Given the description of an element on the screen output the (x, y) to click on. 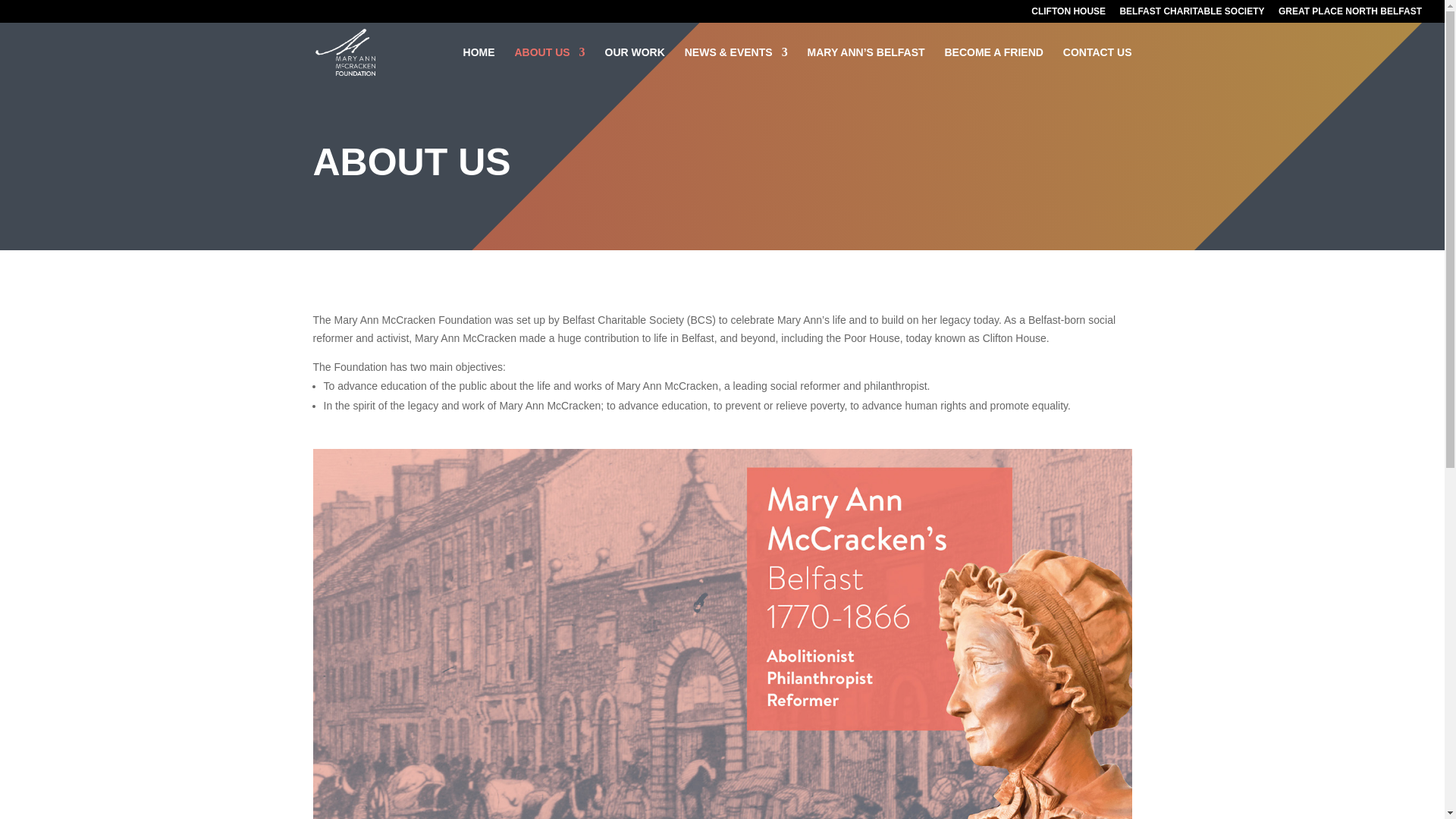
ABOUT US (549, 63)
CLIFTON HOUSE (1067, 14)
HOME (479, 63)
CONTACT US (1097, 63)
BECOME A FRIEND (992, 63)
GREAT PLACE NORTH BELFAST (1350, 14)
BELFAST CHARITABLE SOCIETY (1191, 14)
OUR WORK (635, 63)
